Given the description of an element on the screen output the (x, y) to click on. 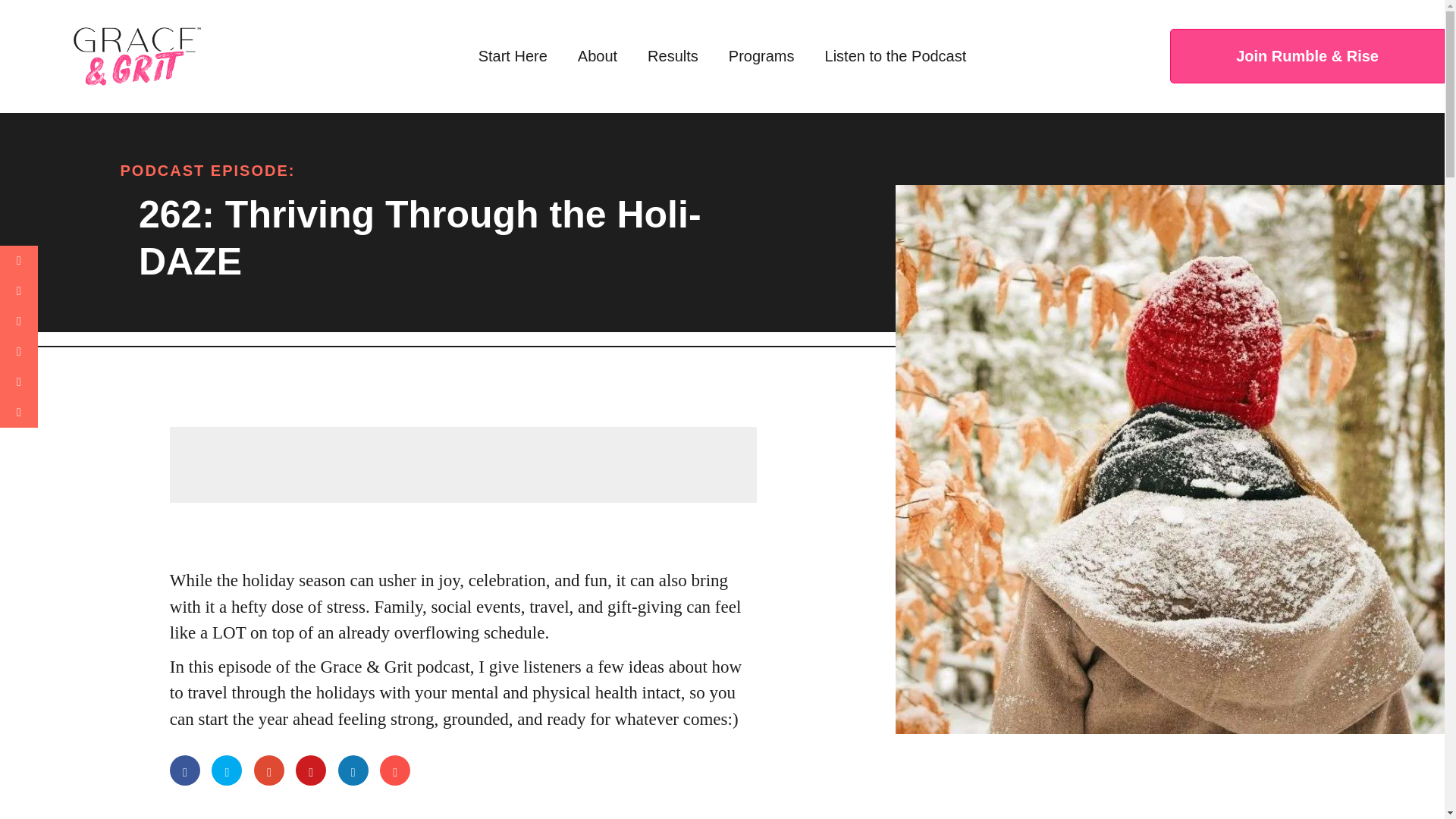
Listen to the Podcast (895, 55)
Programs (761, 55)
Start Here (512, 55)
About (597, 55)
Results (673, 55)
